Given the description of an element on the screen output the (x, y) to click on. 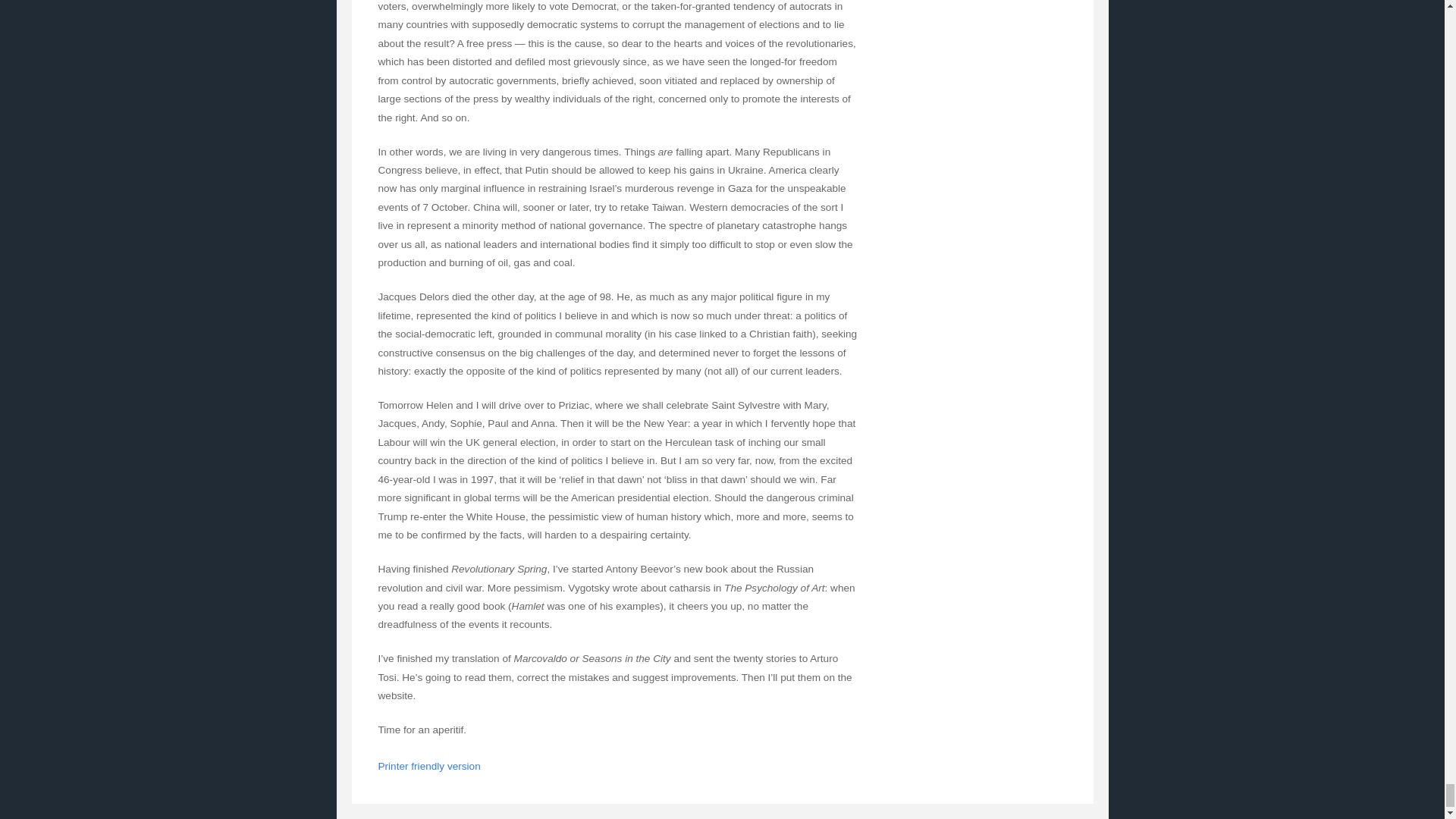
Printer friendly version (428, 766)
